Given the description of an element on the screen output the (x, y) to click on. 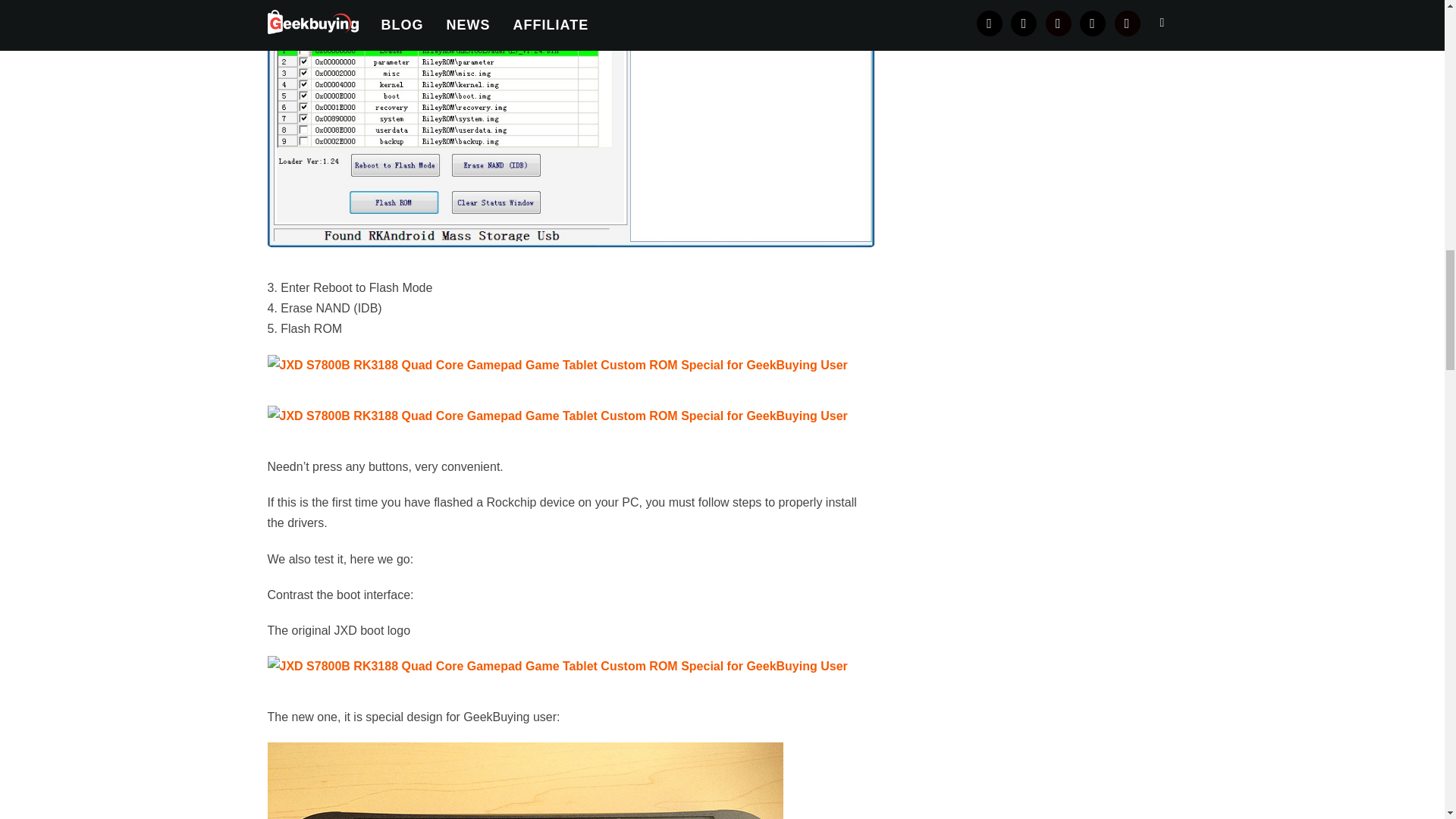
2 (524, 780)
2 (556, 415)
1 (556, 666)
1 (556, 364)
